Given the description of an element on the screen output the (x, y) to click on. 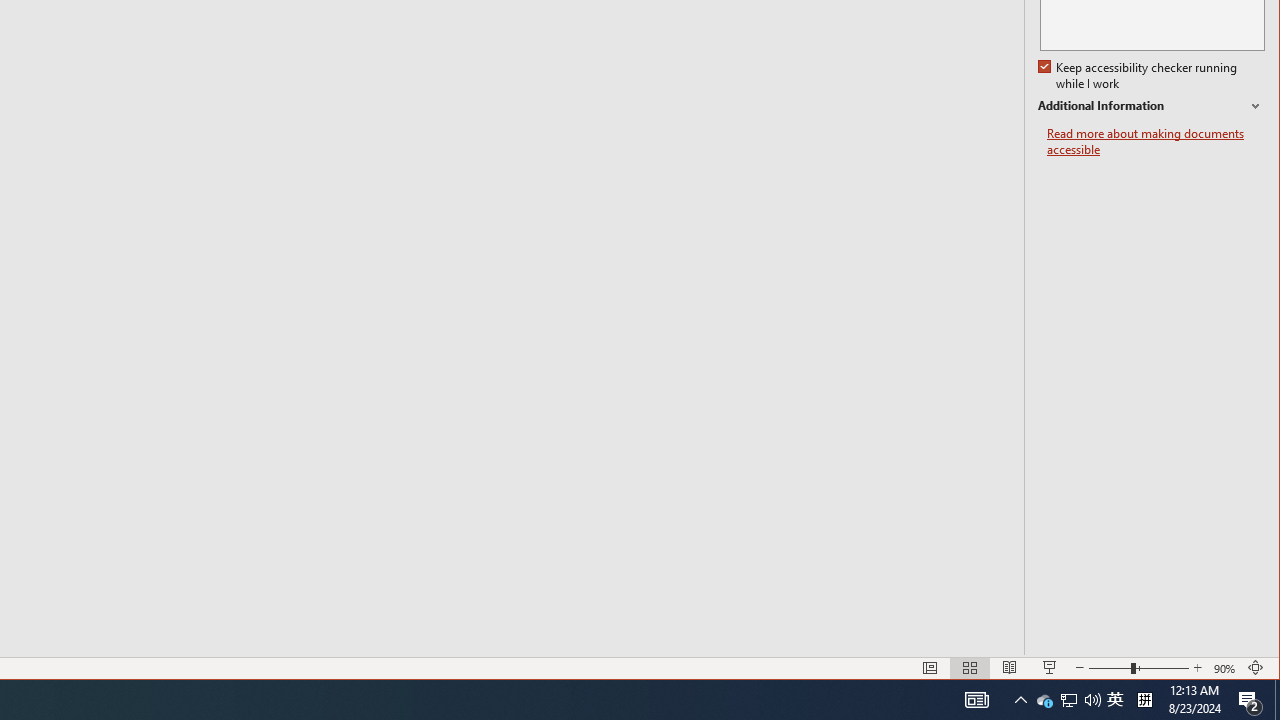
Keep accessibility checker running while I work (1139, 76)
Action Center, 2 new notifications (1250, 699)
